Given the description of an element on the screen output the (x, y) to click on. 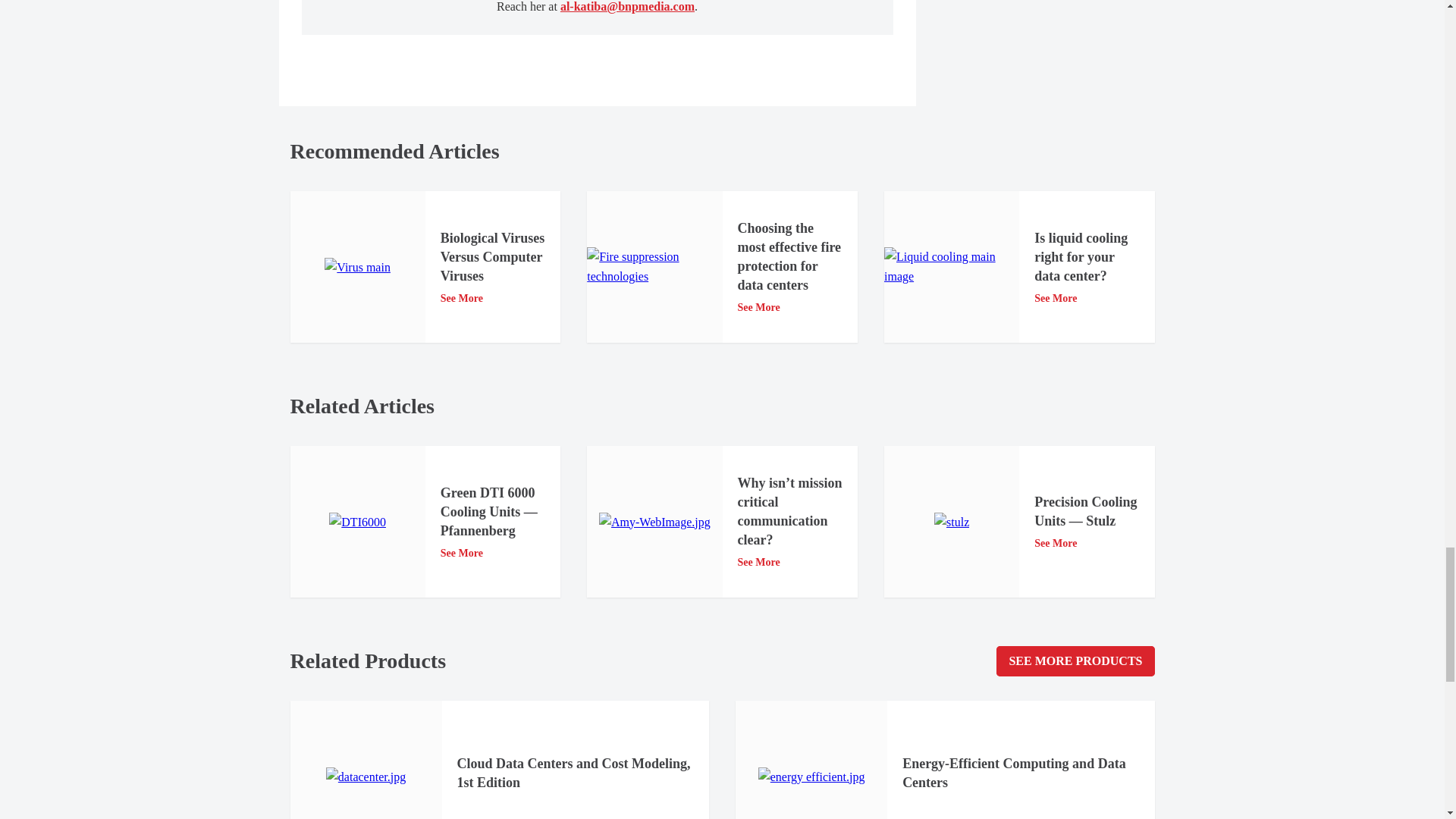
Amy-WebImage.jpg (654, 522)
energy efficient.jpg (811, 777)
stulz (951, 522)
DTI6000 (357, 522)
Liquid cooling main image (951, 267)
datacenter.jpg (366, 777)
Fire suppression technologies (654, 267)
Virus main (357, 267)
